Given the description of an element on the screen output the (x, y) to click on. 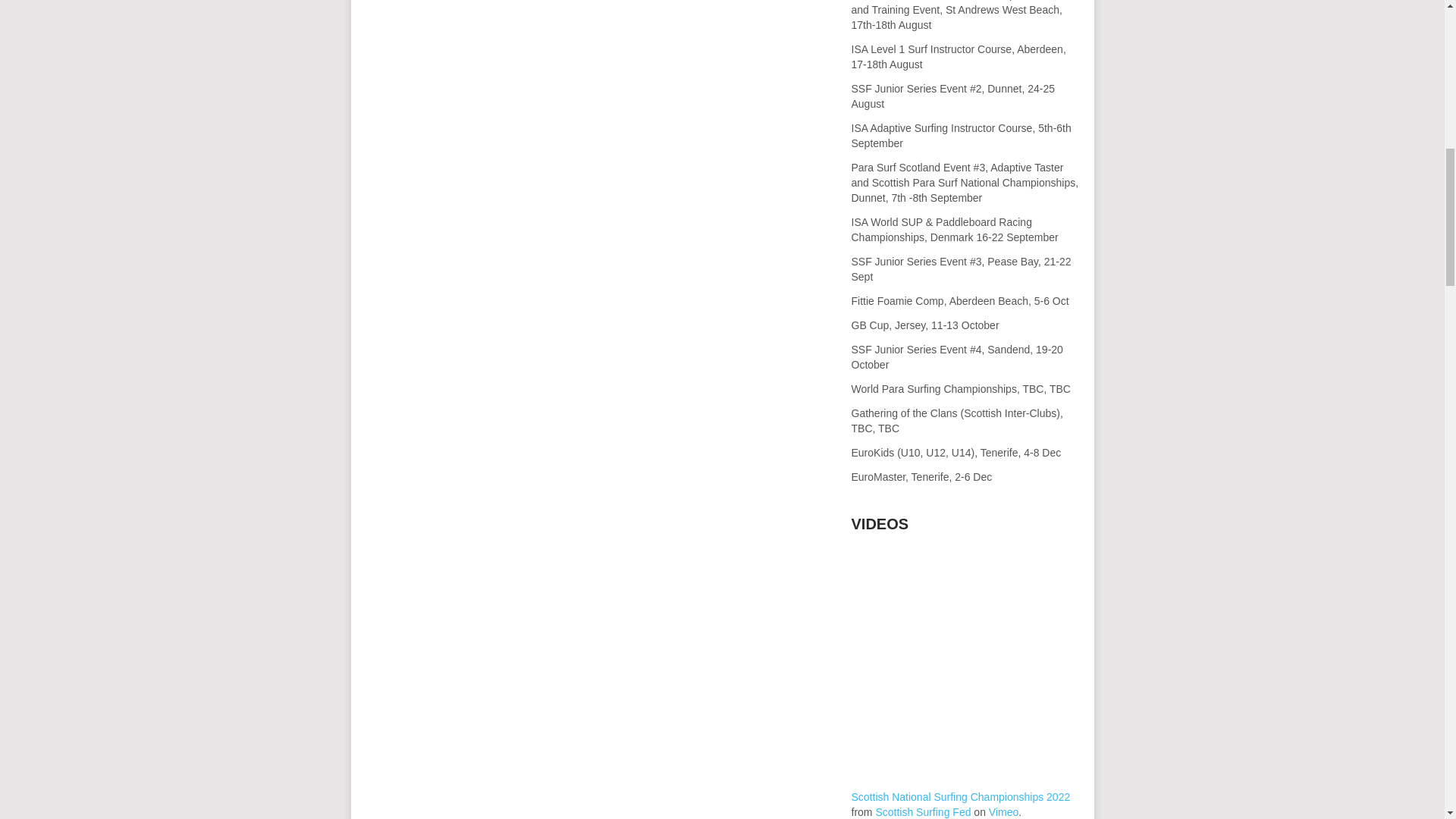
Vimeo (1002, 811)
Scottish Surfing Fed (923, 811)
YouTube video player (964, 595)
Scottish National Surfing Championships 2022 (960, 797)
